Given the description of an element on the screen output the (x, y) to click on. 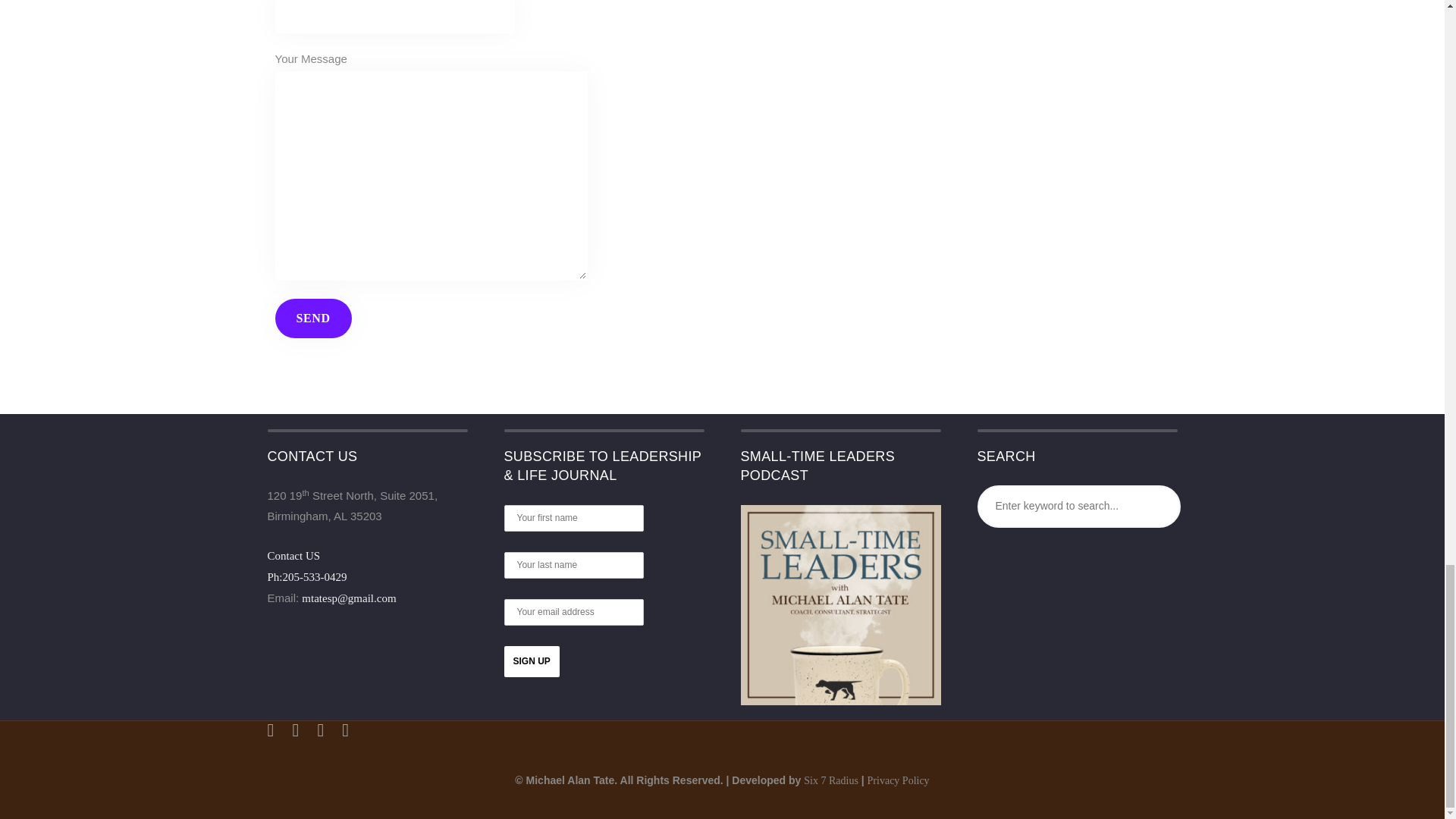
Sign up (531, 661)
Send (312, 318)
Facebook (294, 730)
Email (345, 730)
LinkedIn (319, 730)
Send (312, 318)
